Given the description of an element on the screen output the (x, y) to click on. 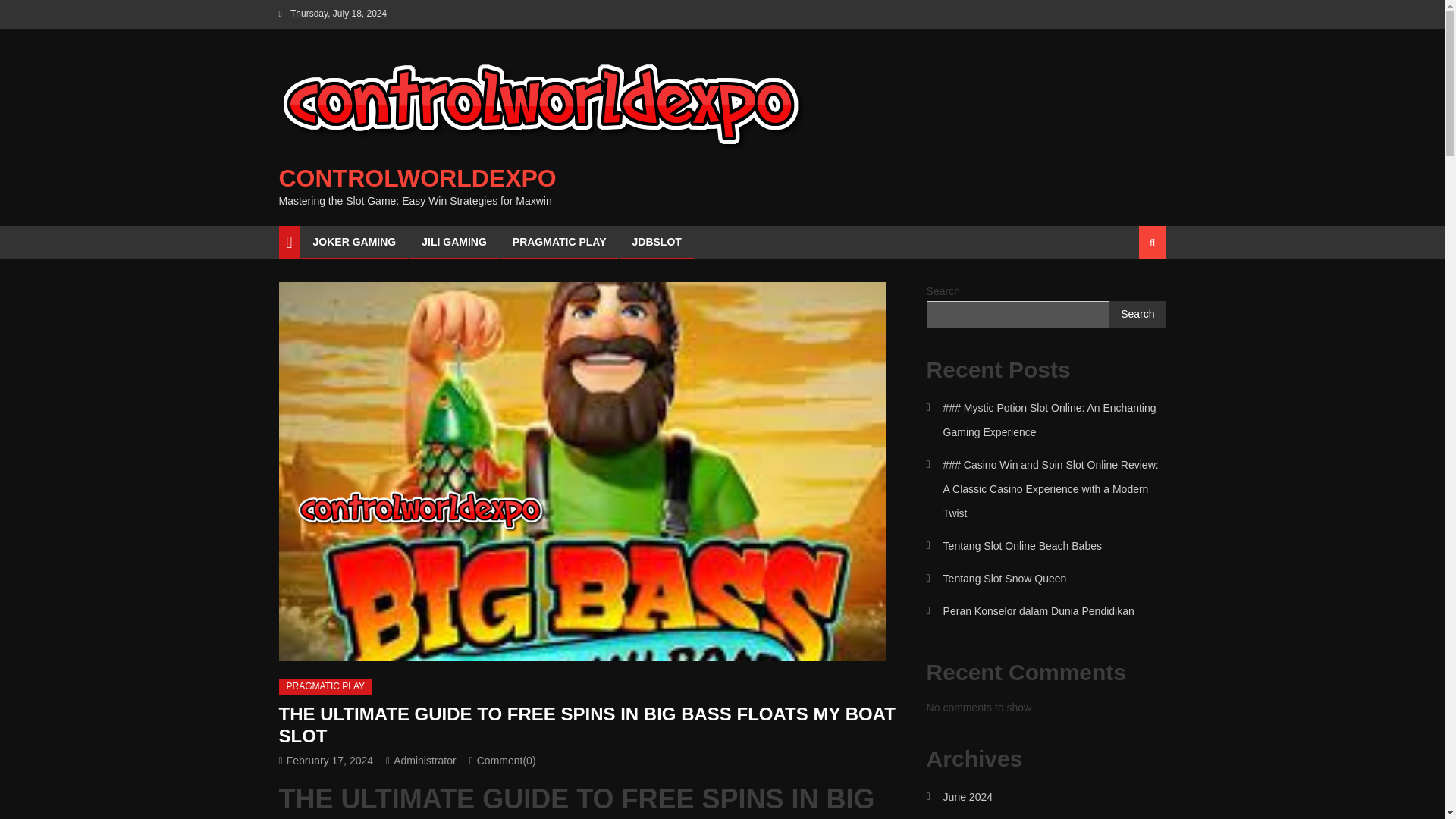
Search (1133, 295)
JDBSLOT (656, 241)
JOKER GAMING (354, 241)
JILI GAMING (453, 241)
February 17, 2024 (329, 760)
CONTROLWORLDEXPO (417, 177)
PRAGMATIC PLAY (325, 686)
Administrator (424, 760)
PRAGMATIC PLAY (558, 241)
